Given the description of an element on the screen output the (x, y) to click on. 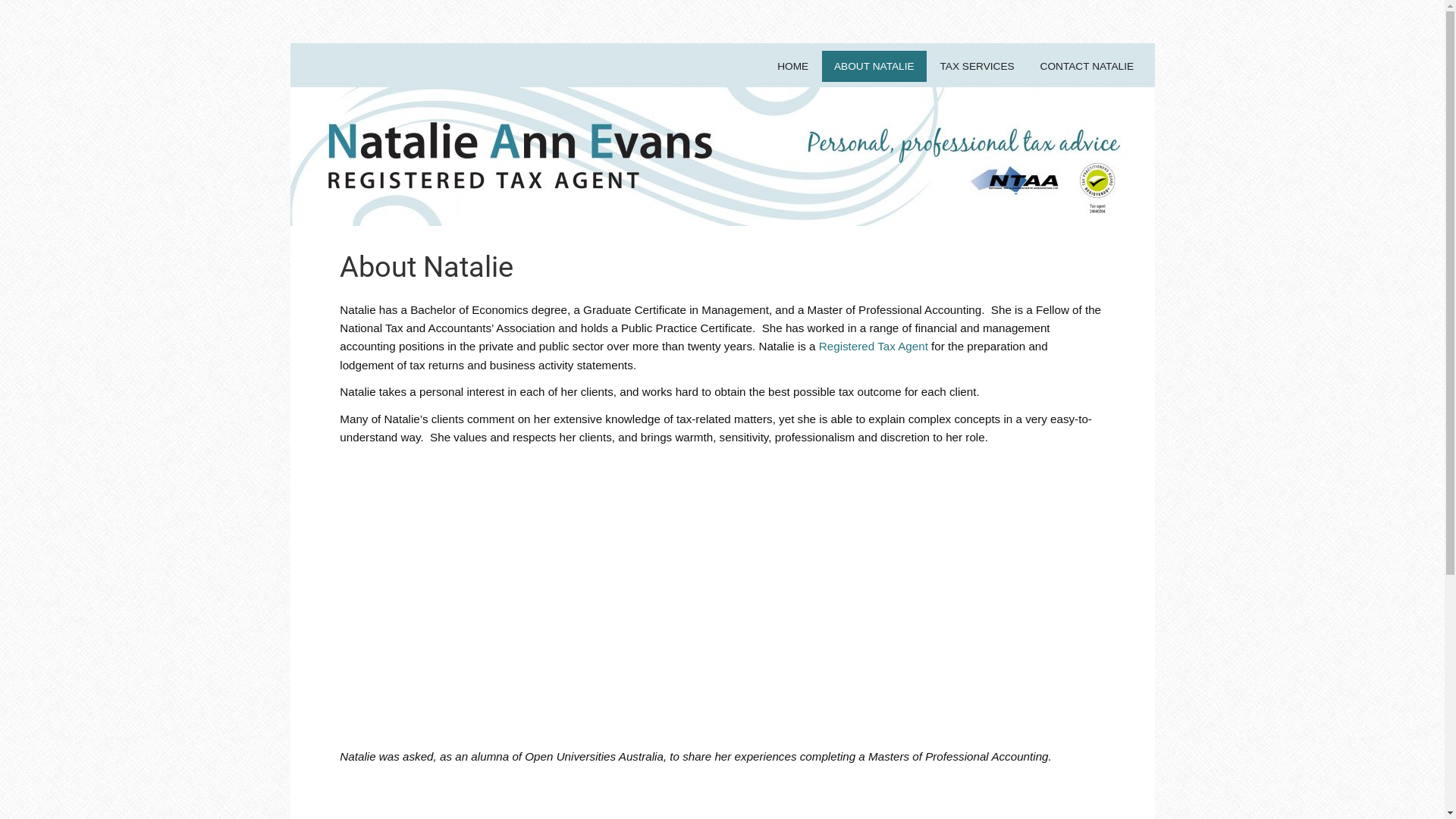
HOME Element type: text (793, 65)
TAX SERVICES Element type: text (976, 65)
Natalie's story - Master of Professional Accounting Element type: hover (722, 594)
Registered Tax Agent Element type: text (873, 345)
CONTACT NATALIE Element type: text (1086, 65)
Natalie Evans Tax Element type: hover (312, 81)
ABOUT NATALIE Element type: text (874, 65)
